Given the description of an element on the screen output the (x, y) to click on. 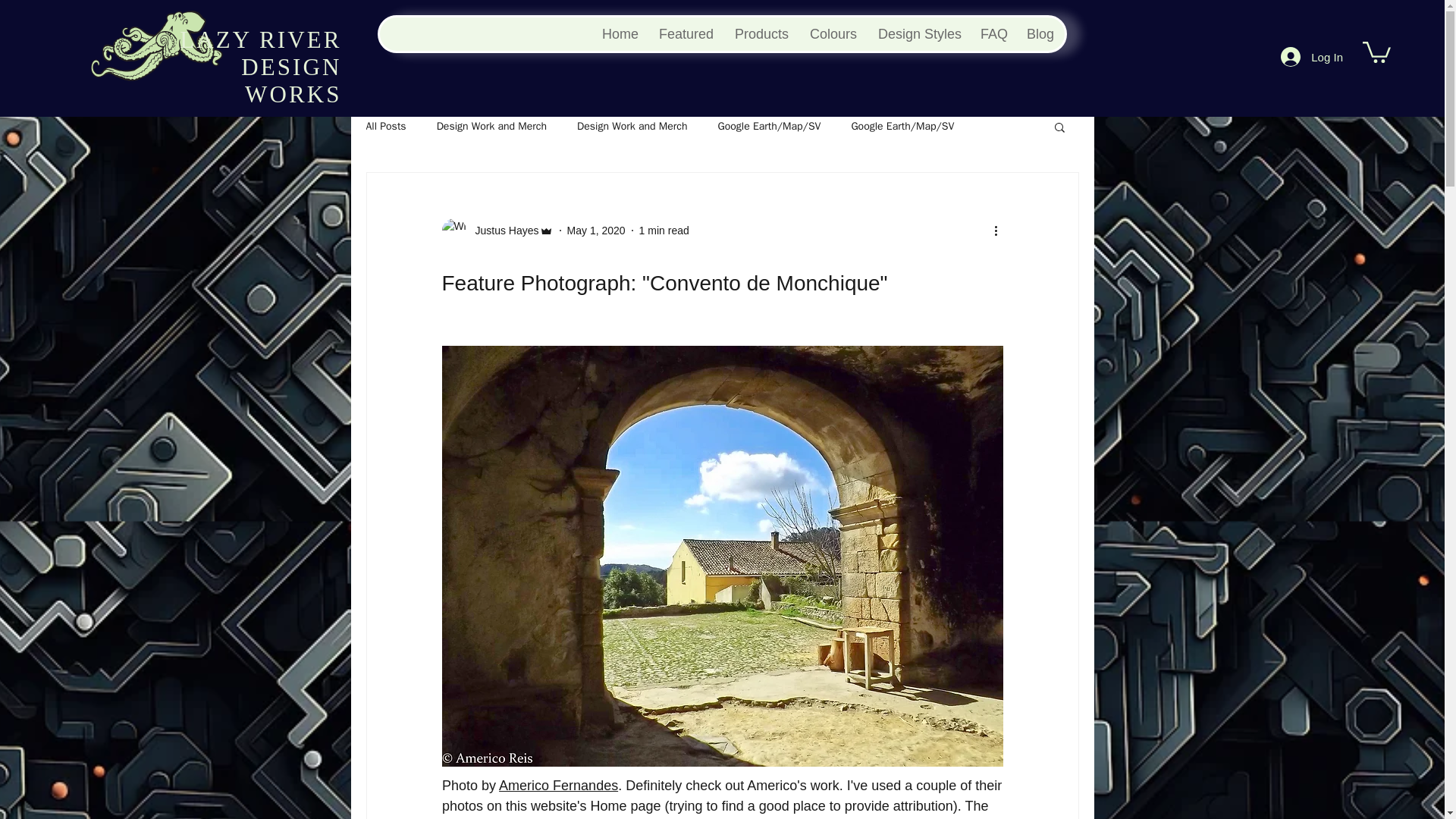
Design Styles (917, 33)
Justus Hayes (501, 230)
Colours (831, 33)
DESIGN WORKS (290, 80)
Featured (684, 33)
Products (759, 33)
May 1, 2020 (596, 230)
1 min read (663, 230)
Home (617, 33)
Blog (1039, 33)
LAZY RIVER (259, 39)
FAQ (991, 33)
Log In (1311, 56)
All Posts (385, 126)
